Given the description of an element on the screen output the (x, y) to click on. 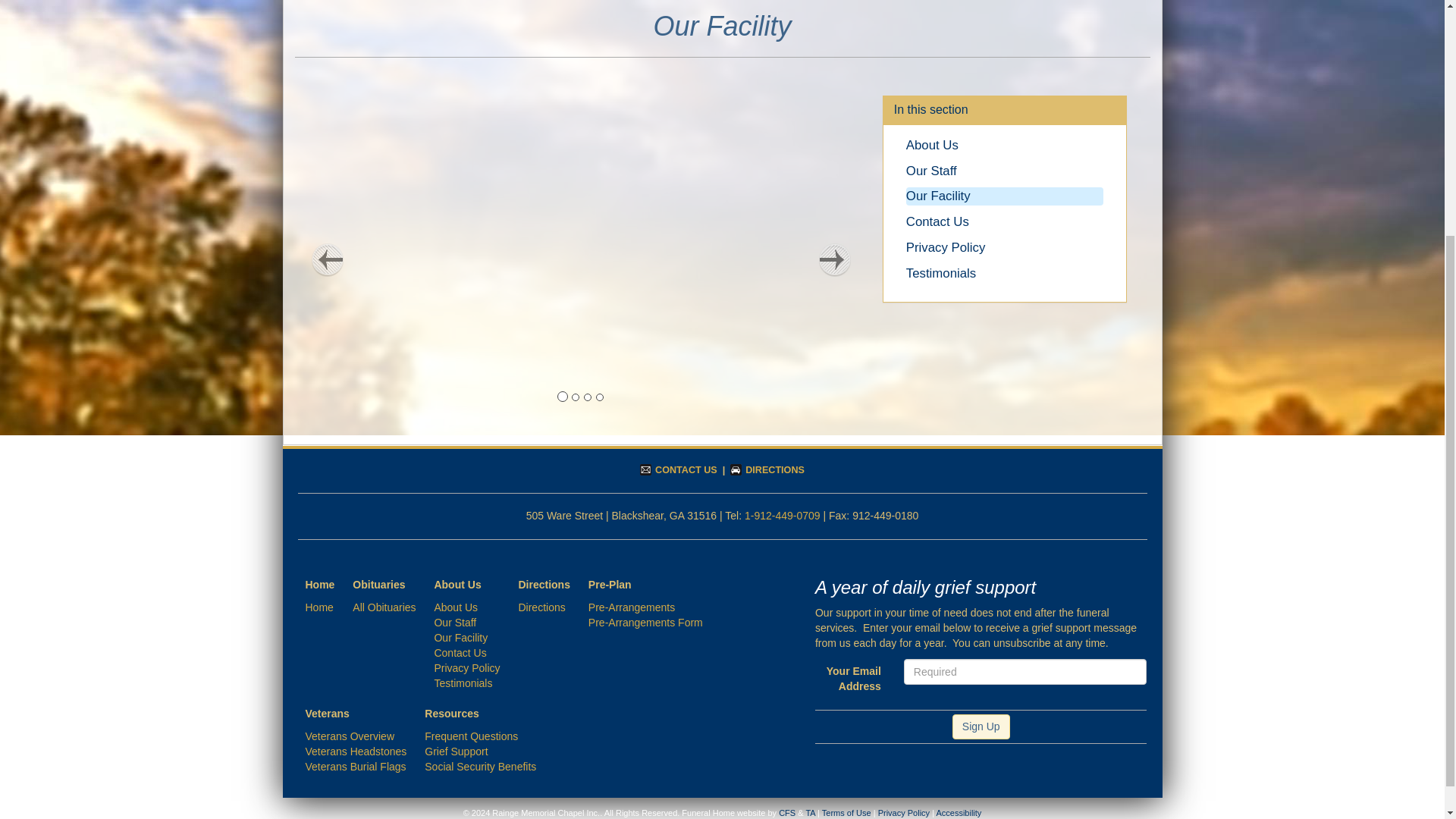
Privacy Policy (945, 247)
Our Facility (938, 196)
Contact Us (937, 221)
Our Staff (930, 170)
Previous (326, 259)
Testimonials (940, 273)
DIRECTIONS (767, 470)
About Us (931, 145)
CONTACT US (678, 470)
1-912-449-0709 (782, 515)
